Given the description of an element on the screen output the (x, y) to click on. 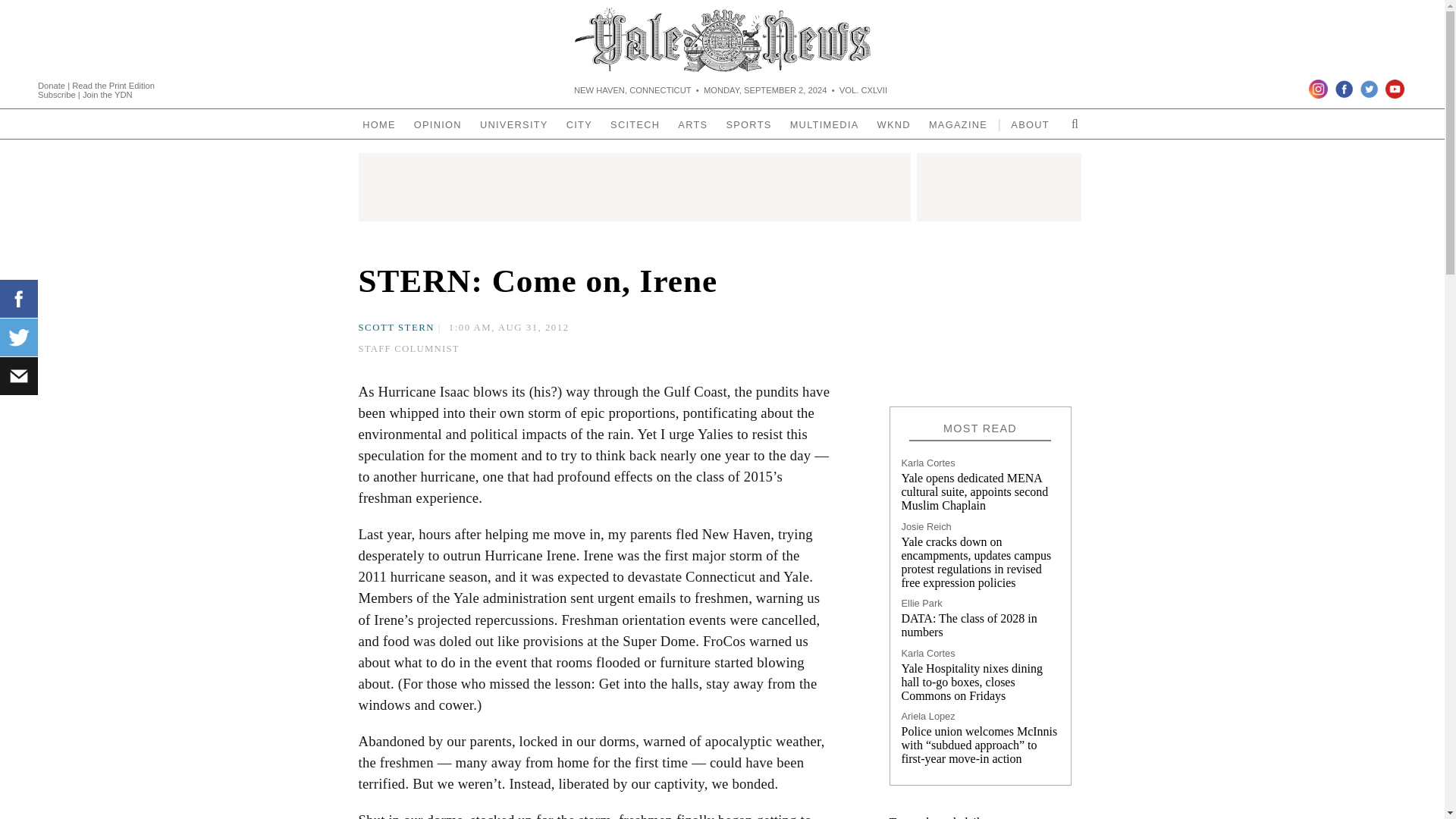
SCITECH (634, 124)
ARTS (691, 124)
Read the Print Edition (112, 84)
OPINION (437, 124)
HOME (379, 124)
Subscribe (57, 93)
Donate (51, 84)
ABOUT (1030, 124)
Subscribe (57, 93)
WKND (893, 124)
